Given the description of an element on the screen output the (x, y) to click on. 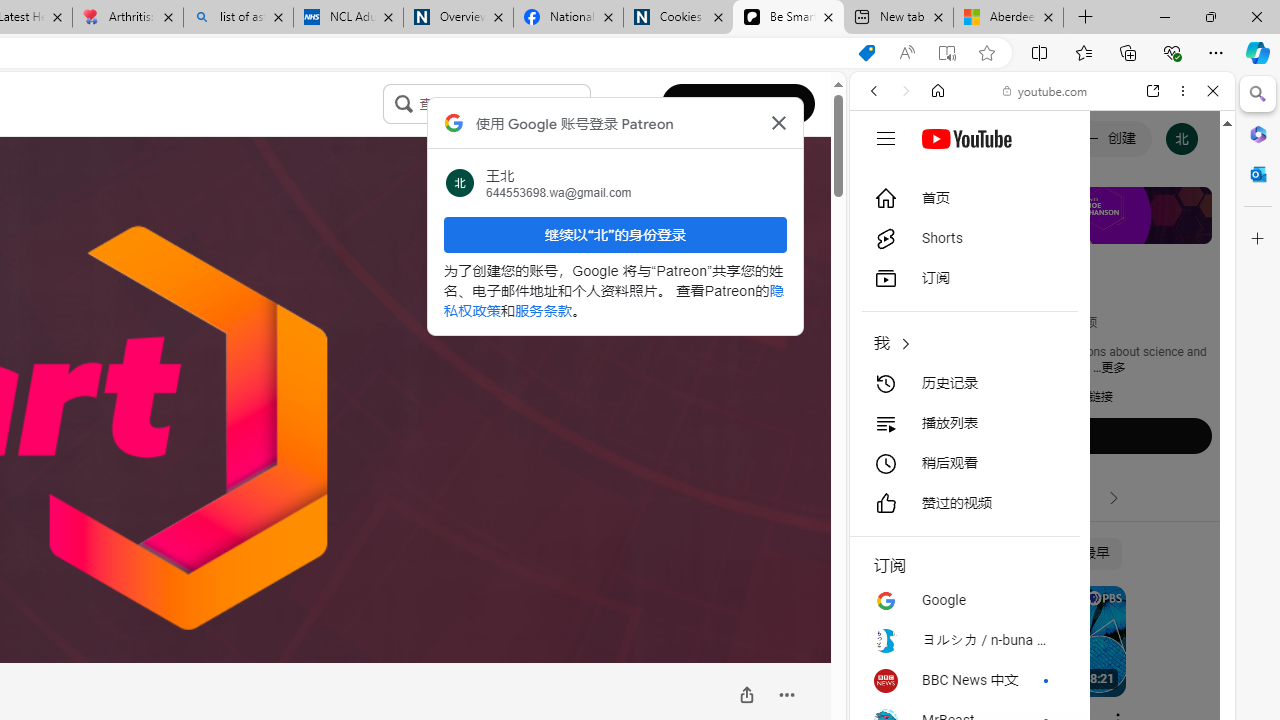
Arthritis: Ask Health Professionals (128, 17)
AutomationID: right (1113, 497)
Close Customize pane (1258, 239)
Shorts (963, 238)
Cookies | About | NICE (678, 17)
Search videos from youtube.com (1005, 657)
Web scope (882, 180)
WEB   (882, 228)
IMAGES (939, 228)
Google (1042, 494)
